Given the description of an element on the screen output the (x, y) to click on. 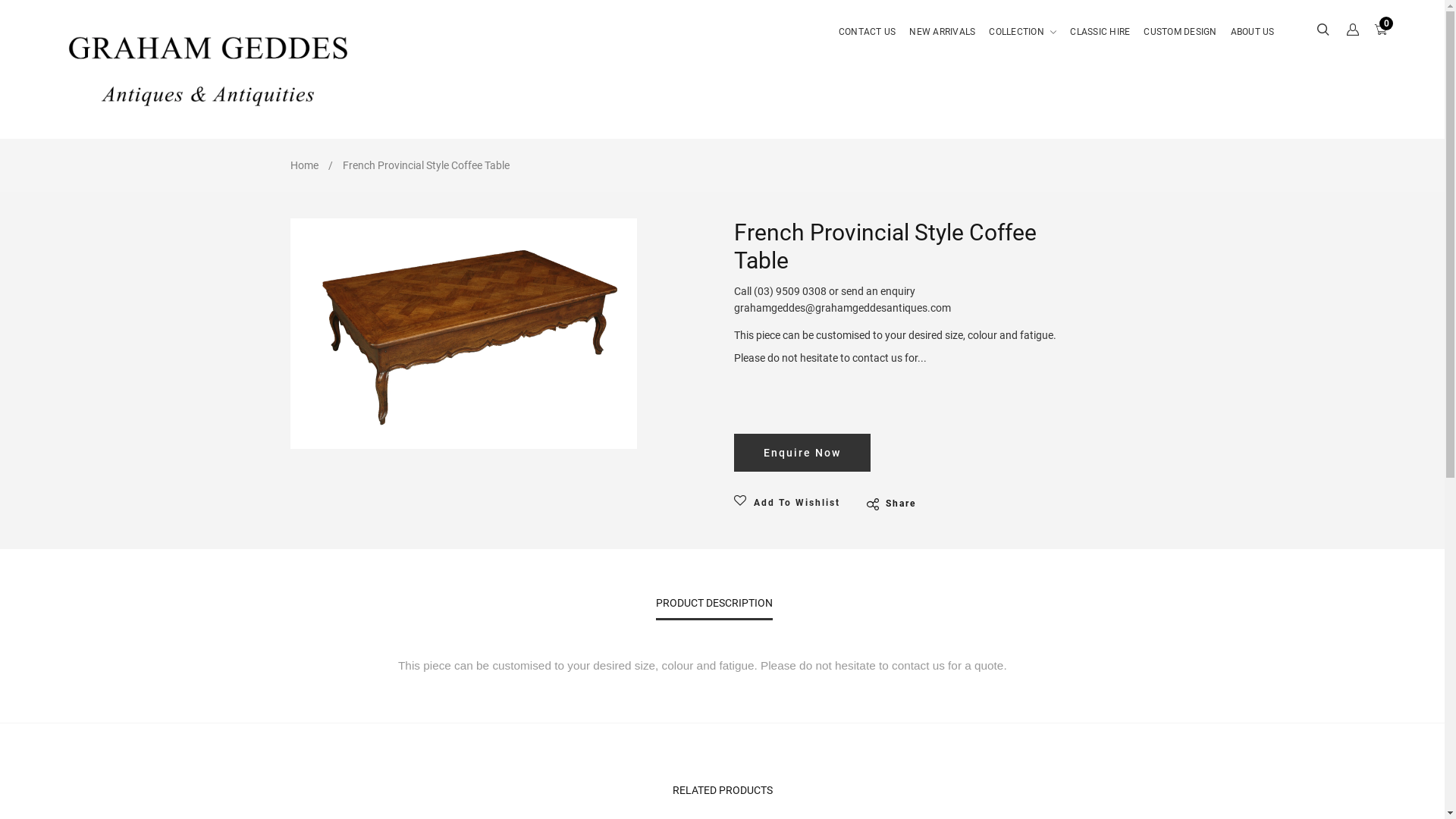
PRODUCT DESCRIPTION Element type: text (713, 607)
0 Element type: text (1380, 31)
Add To Wishlist Element type: text (790, 502)
CLASSIC HIRE Element type: text (1099, 42)
CUSTOM DESIGN Element type: text (1179, 42)
NEW ARRIVALS Element type: text (942, 42)
COLLECTION Element type: text (1022, 42)
Enquire Now Element type: text (802, 452)
ABOUT US Element type: text (1252, 42)
CONTACT US Element type: text (870, 42)
Share Element type: text (890, 503)
Home Element type: text (303, 165)
